Given the description of an element on the screen output the (x, y) to click on. 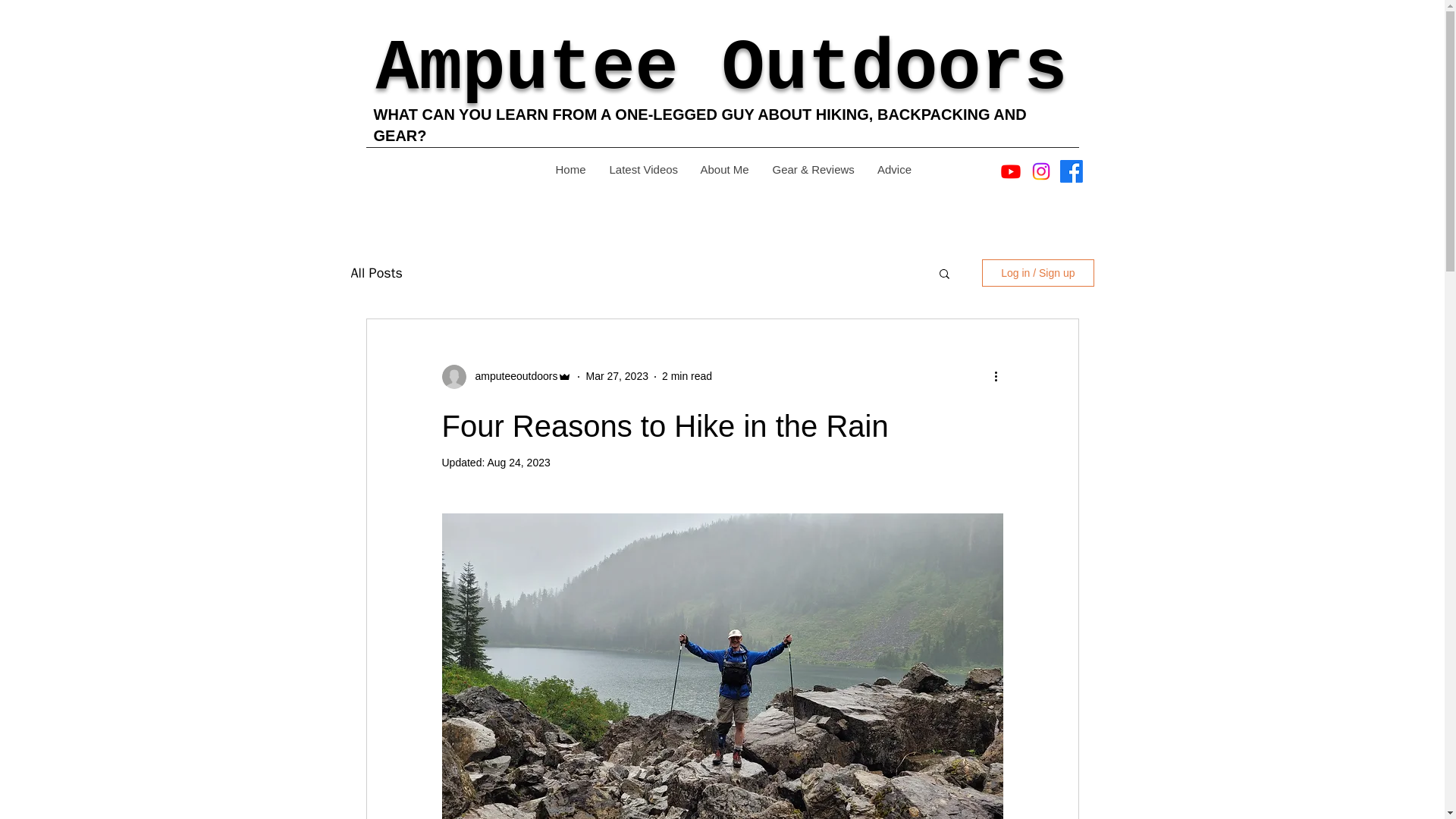
2 min read (686, 376)
Latest Videos (642, 169)
amputeeoutdoors (511, 376)
Mar 27, 2023 (616, 376)
Home (569, 169)
Aug 24, 2023 (518, 462)
Advice (893, 169)
About Me (724, 169)
All Posts (375, 272)
Amputee Outdoors (721, 68)
